Given the description of an element on the screen output the (x, y) to click on. 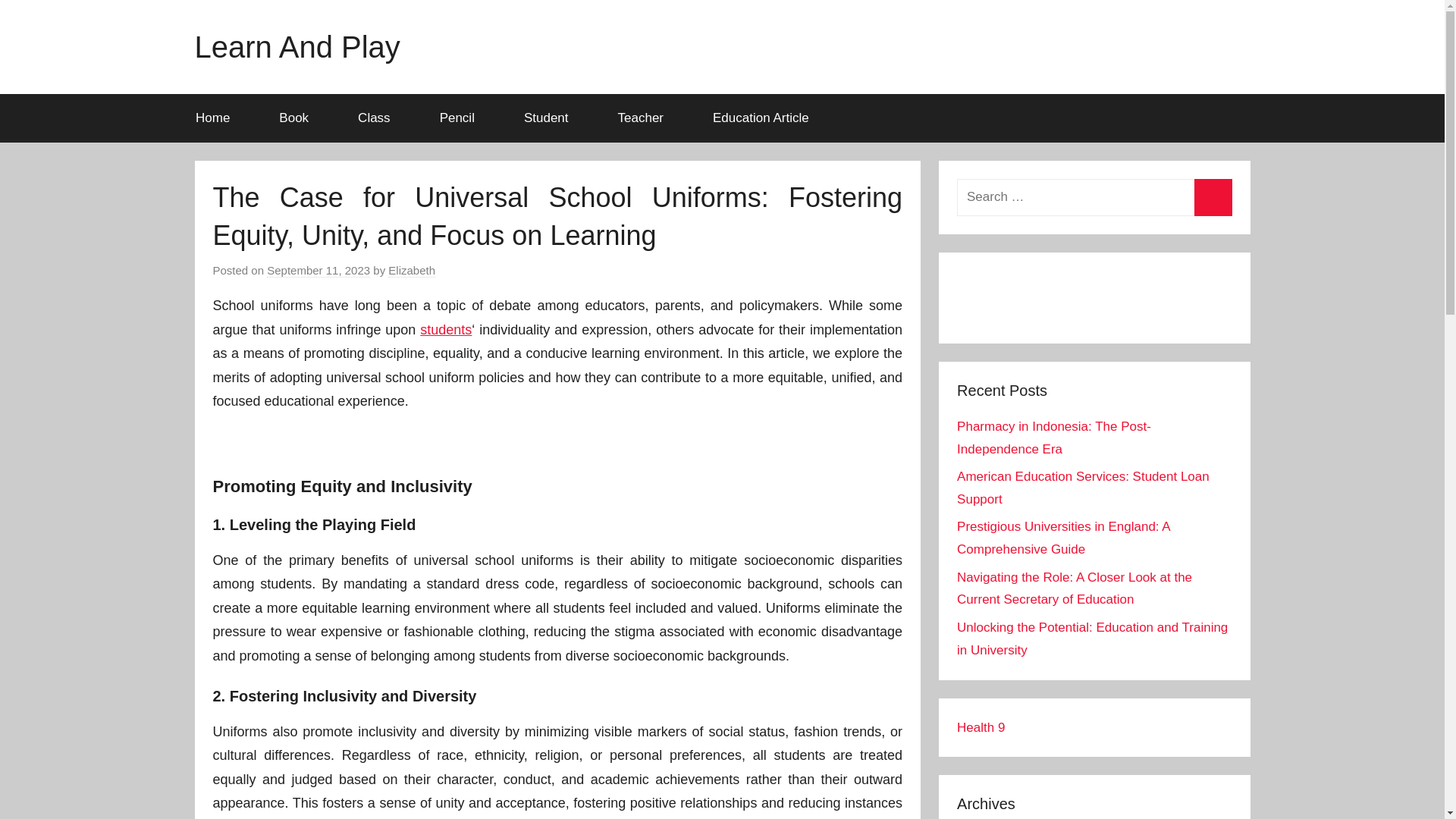
Book (299, 118)
Learn And Play (295, 46)
September 11, 2023 (317, 270)
Teacher (645, 118)
Search for: (1093, 197)
View all posts by Elizabeth (411, 270)
Class (379, 118)
Pencil (461, 118)
Home (217, 118)
Elizabeth (411, 270)
Student (550, 118)
Education Article (761, 118)
